Given the description of an element on the screen output the (x, y) to click on. 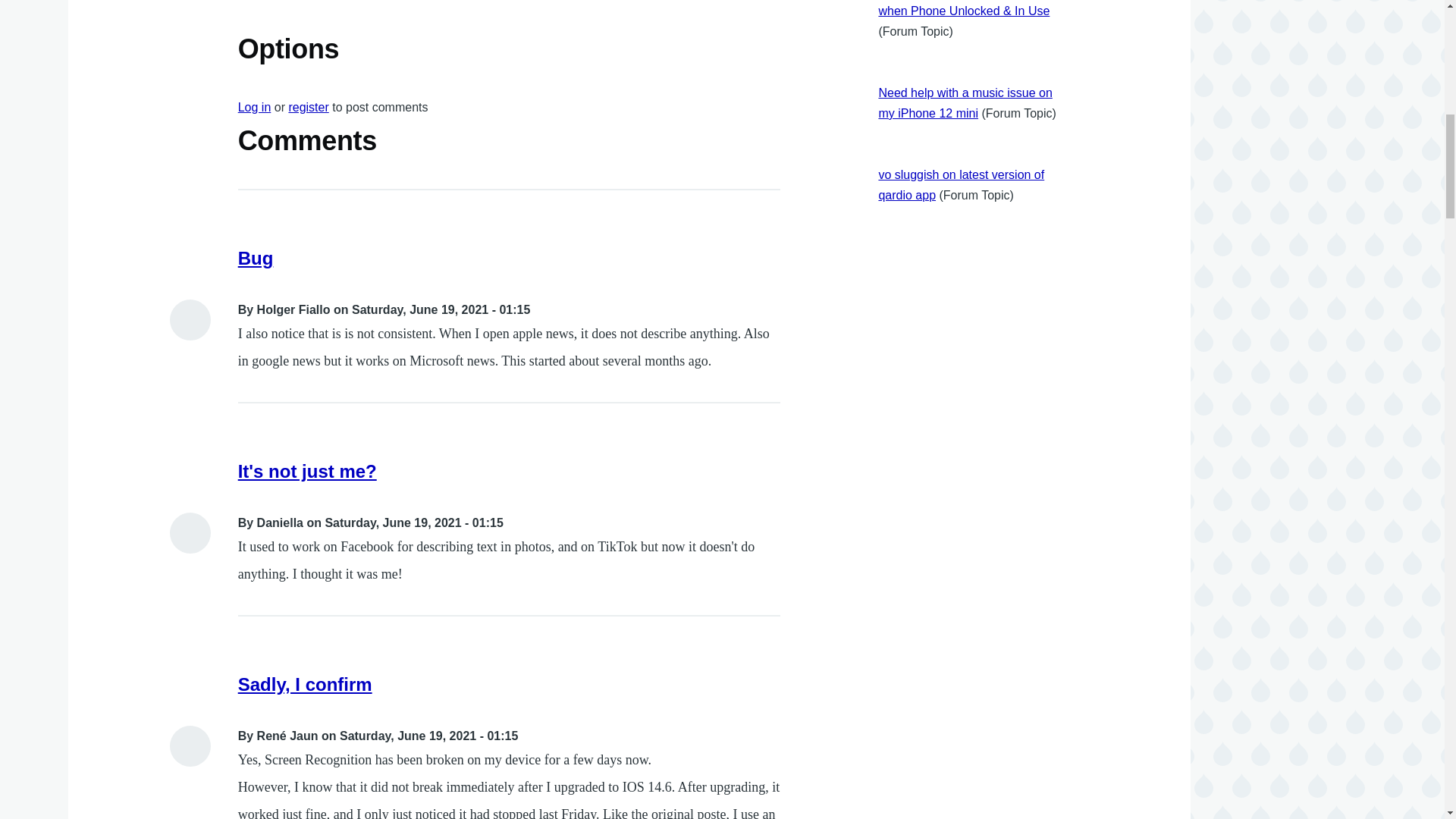
Sadly, I confirm (305, 684)
register (308, 106)
It's not just me? (307, 471)
Log in (254, 106)
Bug (255, 258)
